Given the description of an element on the screen output the (x, y) to click on. 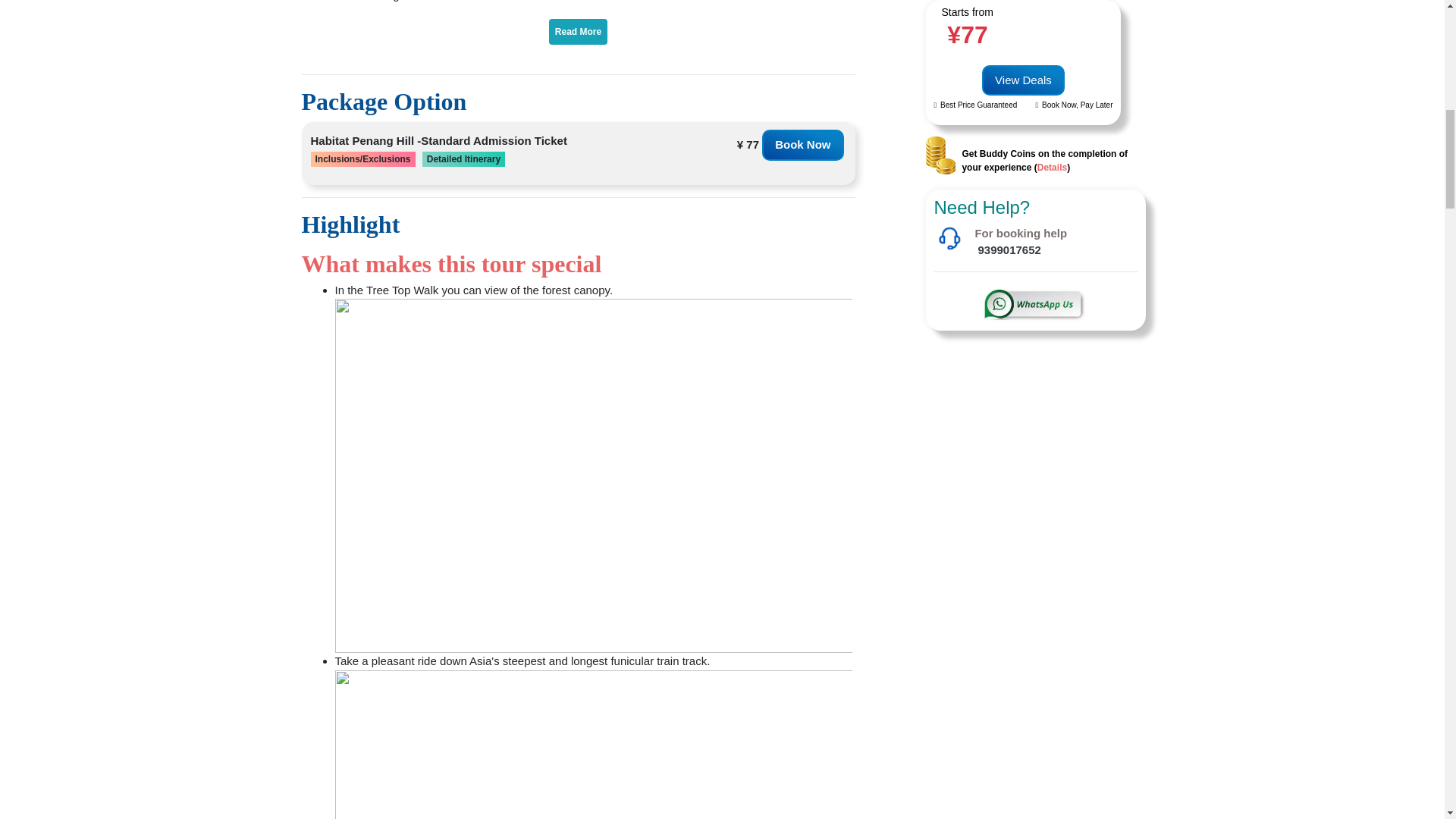
Detailed Itinerary (463, 159)
Read More (577, 31)
Book Now (802, 144)
